Given the description of an element on the screen output the (x, y) to click on. 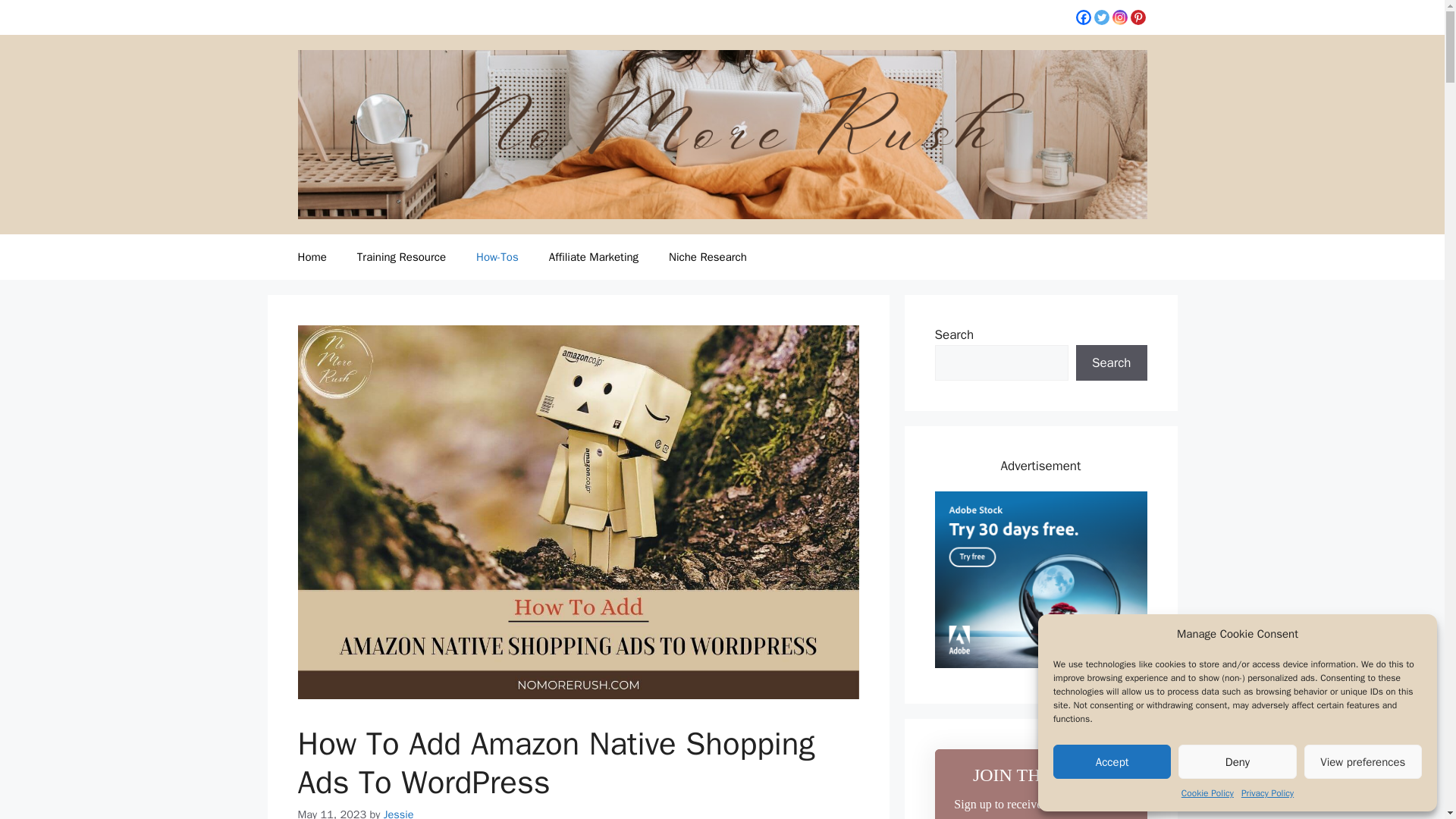
Jessie (398, 813)
Pinterest (1136, 17)
View all posts by Jessie (398, 813)
Privacy Policy (1267, 793)
View preferences (1363, 761)
Home (311, 257)
Facebook (1082, 17)
Training Resource (401, 257)
Accept (1111, 761)
How-Tos (497, 257)
Deny (1236, 761)
Instagram (1119, 17)
Affiliate Marketing (593, 257)
Niche Research (707, 257)
Cookie Policy (1206, 793)
